Given the description of an element on the screen output the (x, y) to click on. 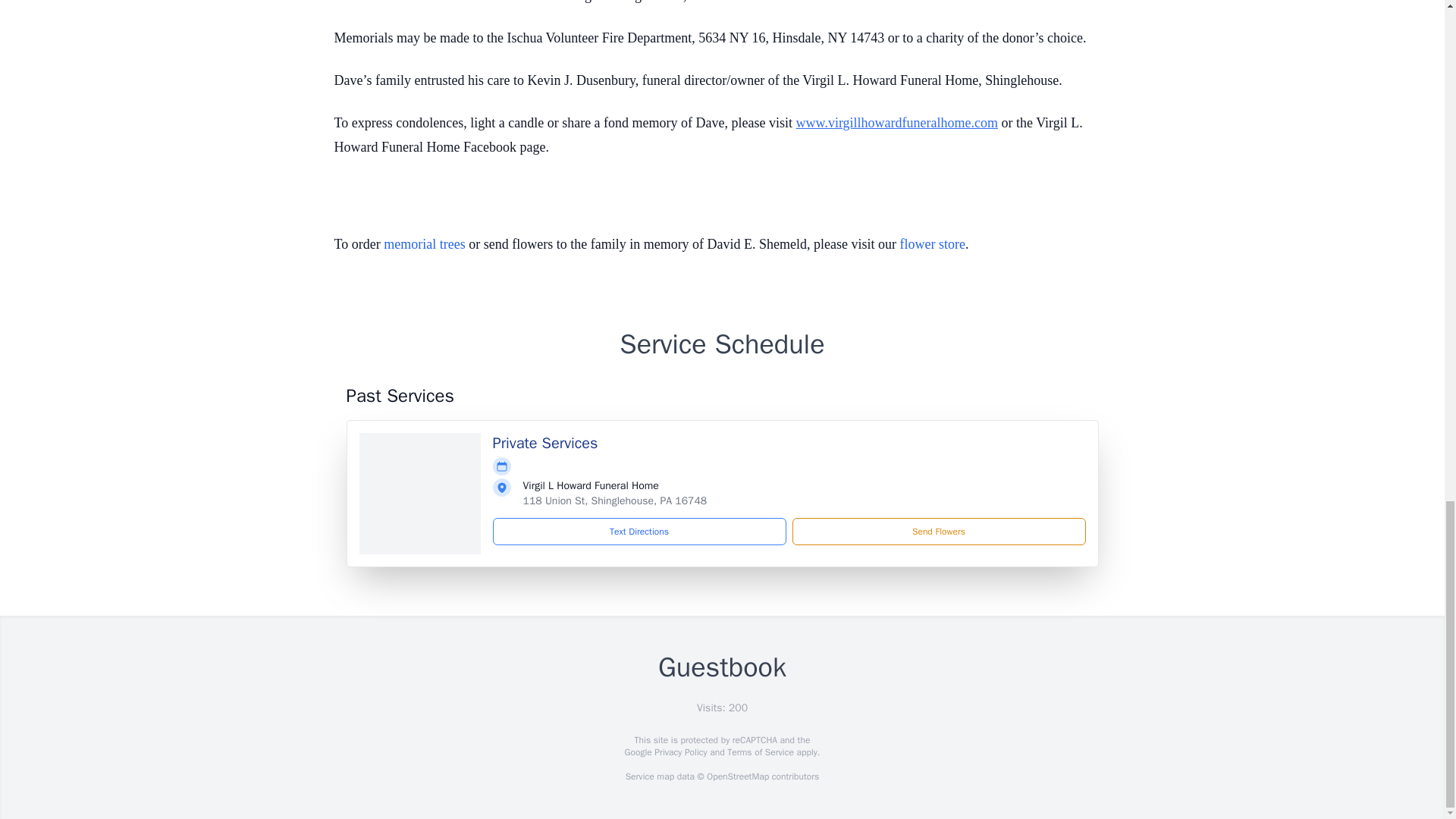
118 Union St, Shinglehouse, PA 16748 (614, 500)
Send Flowers (938, 531)
OpenStreetMap (737, 776)
Text Directions (639, 531)
Privacy Policy (679, 752)
flower store (932, 243)
Terms of Service (759, 752)
www.virgillhowardfuneralhome.com (896, 122)
memorial trees (424, 243)
